Given the description of an element on the screen output the (x, y) to click on. 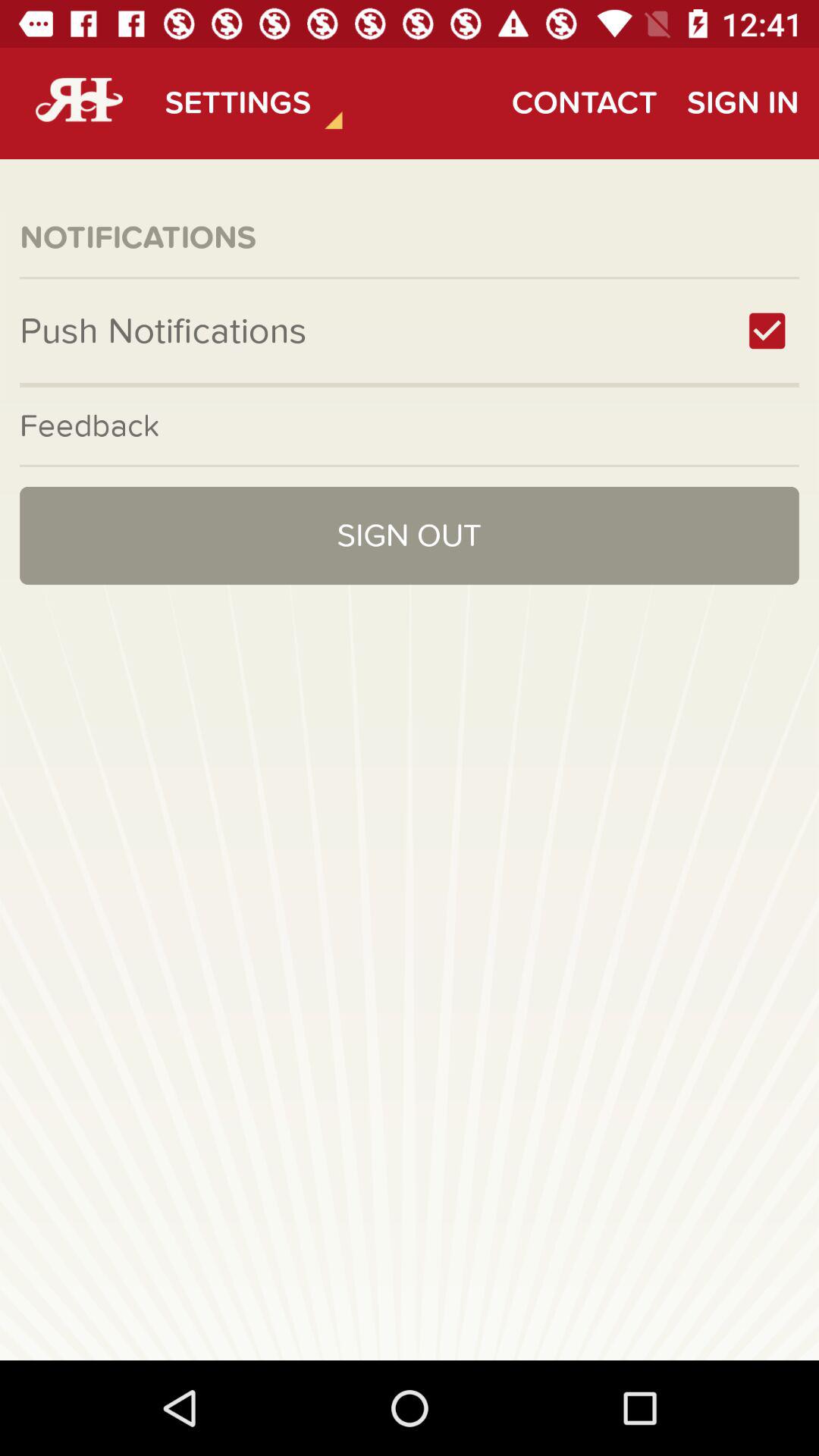
choose icon at the center (409, 535)
